Given the description of an element on the screen output the (x, y) to click on. 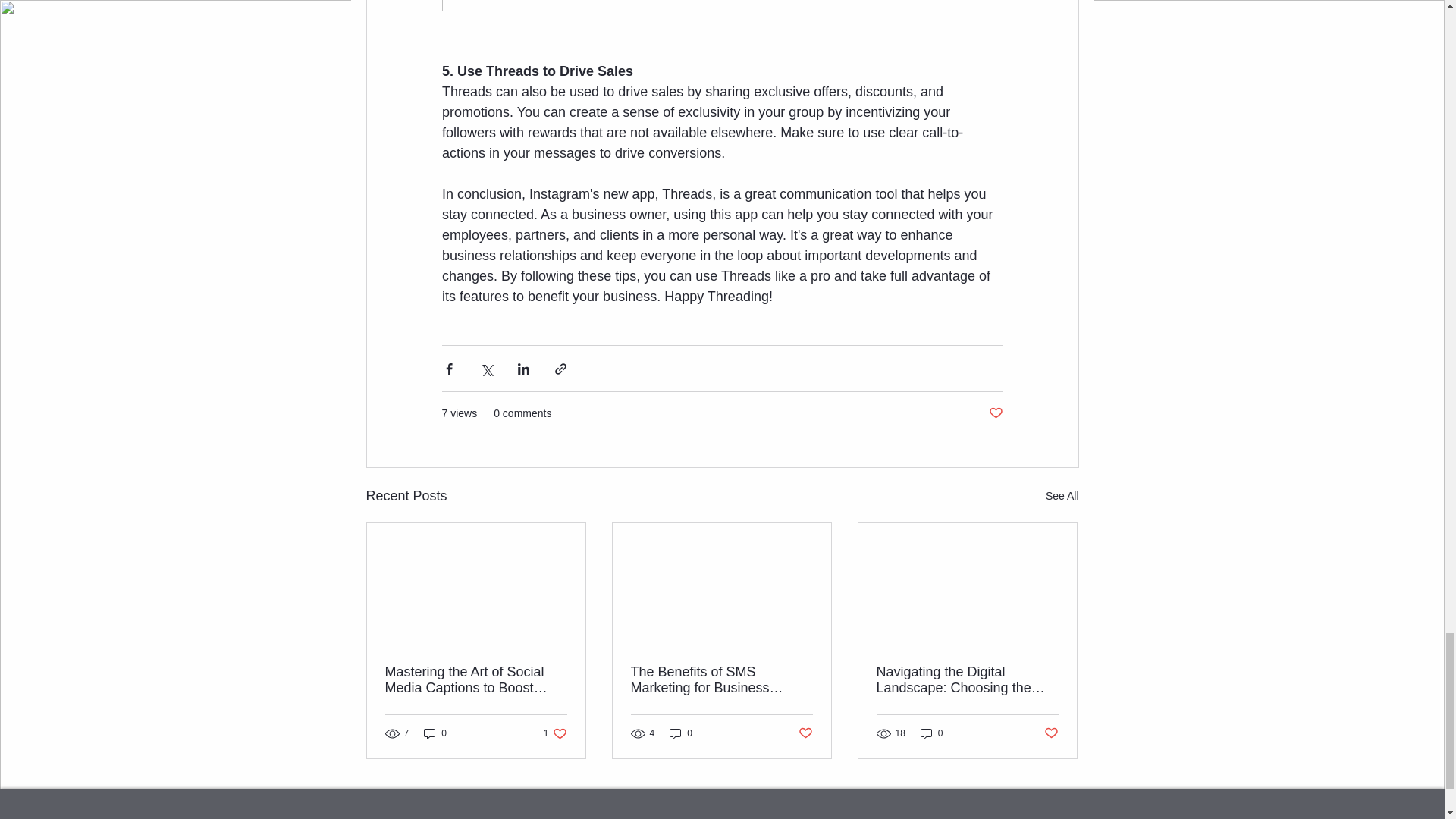
0 (435, 733)
See All (1061, 495)
0 (931, 733)
The Benefits of SMS Marketing for Business Owners (721, 680)
0 (681, 733)
Post not marked as liked (804, 733)
Post not marked as liked (1050, 733)
Post not marked as liked (555, 733)
